Given the description of an element on the screen output the (x, y) to click on. 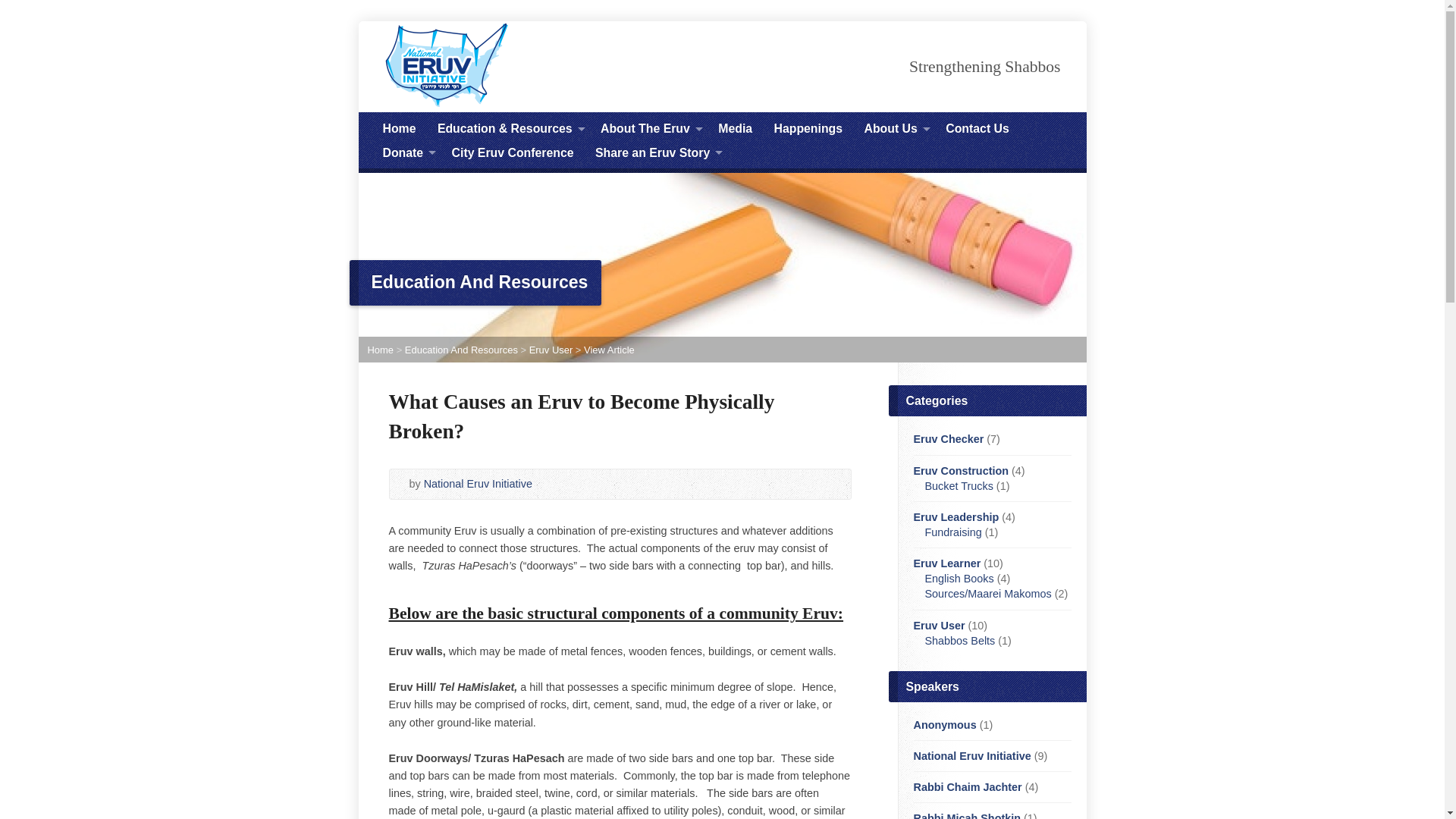
Home (397, 128)
Media (734, 128)
Happenings (808, 128)
Donate (402, 152)
View Article (608, 349)
Eruv User (551, 349)
Share an Eruv Story (652, 152)
About The Eruv (644, 128)
Contact Us (976, 128)
About Us (890, 128)
National Eruv Initiative (477, 483)
City Eruv Conference (512, 152)
Home (379, 349)
Education And Resources (461, 349)
